Given the description of an element on the screen output the (x, y) to click on. 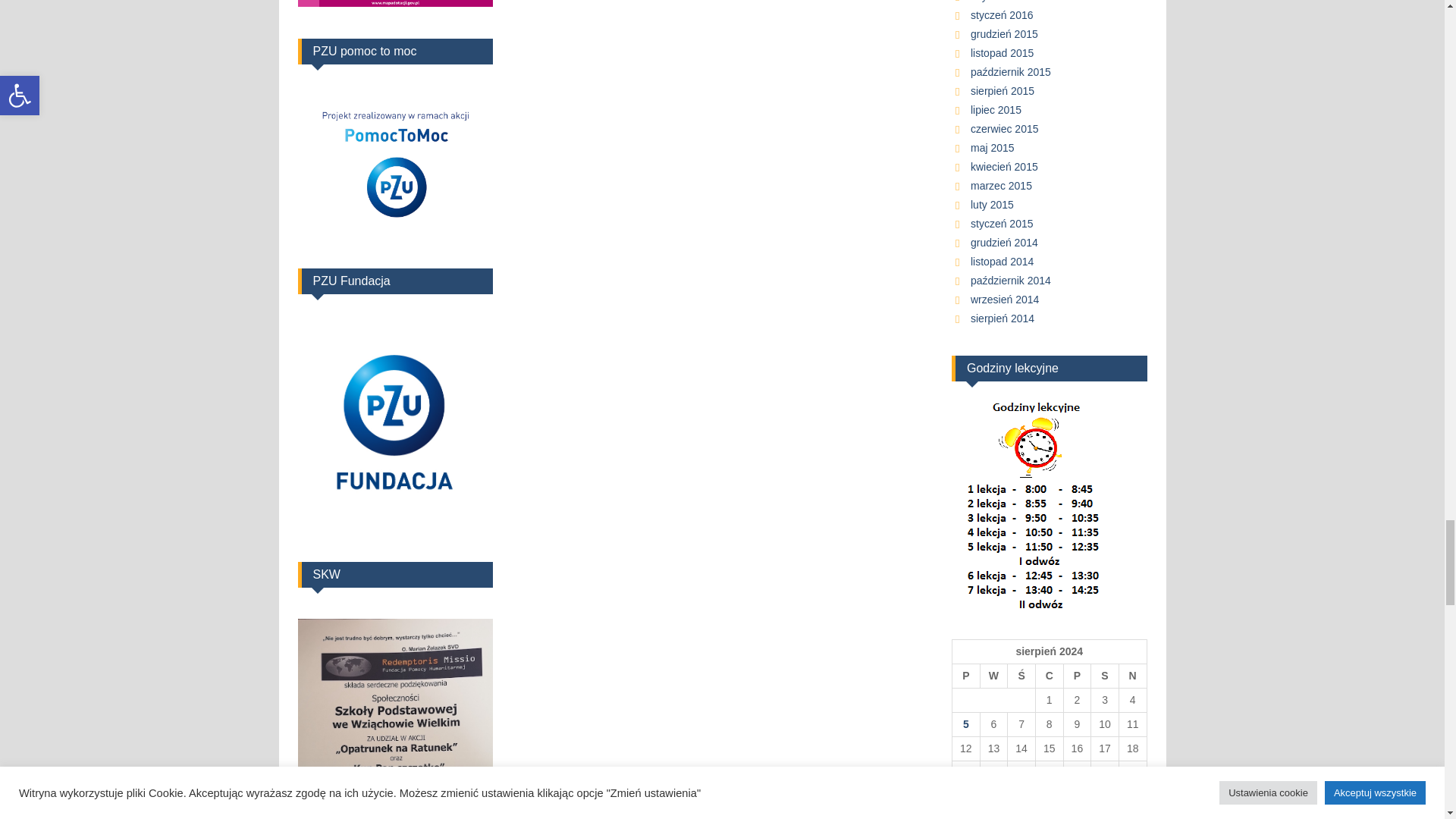
sobota (1104, 675)
czwartek (1048, 675)
niedziela (1132, 675)
wtorek (993, 675)
